Given the description of an element on the screen output the (x, y) to click on. 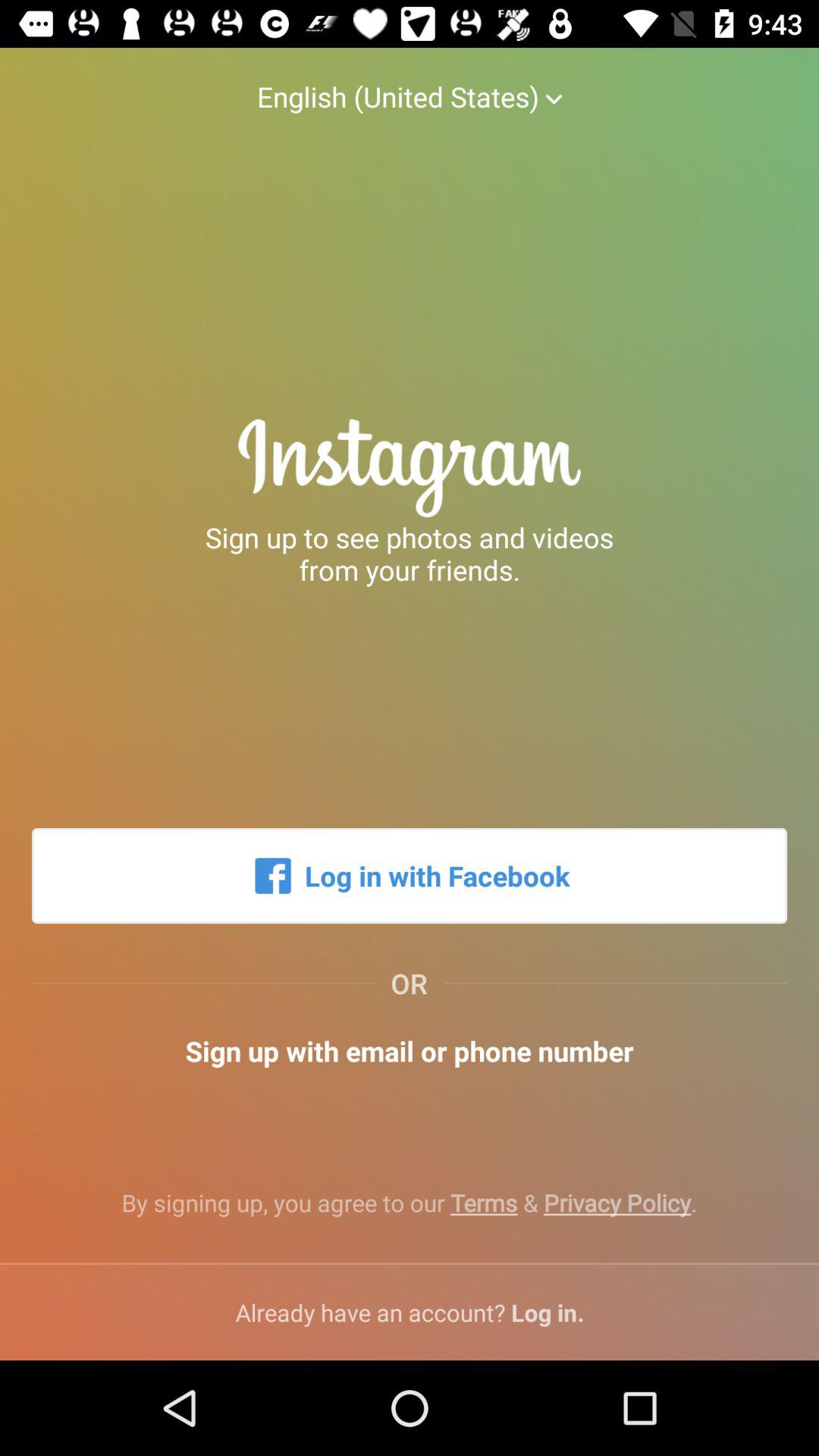
open the english (united states)   app (409, 81)
